Given the description of an element on the screen output the (x, y) to click on. 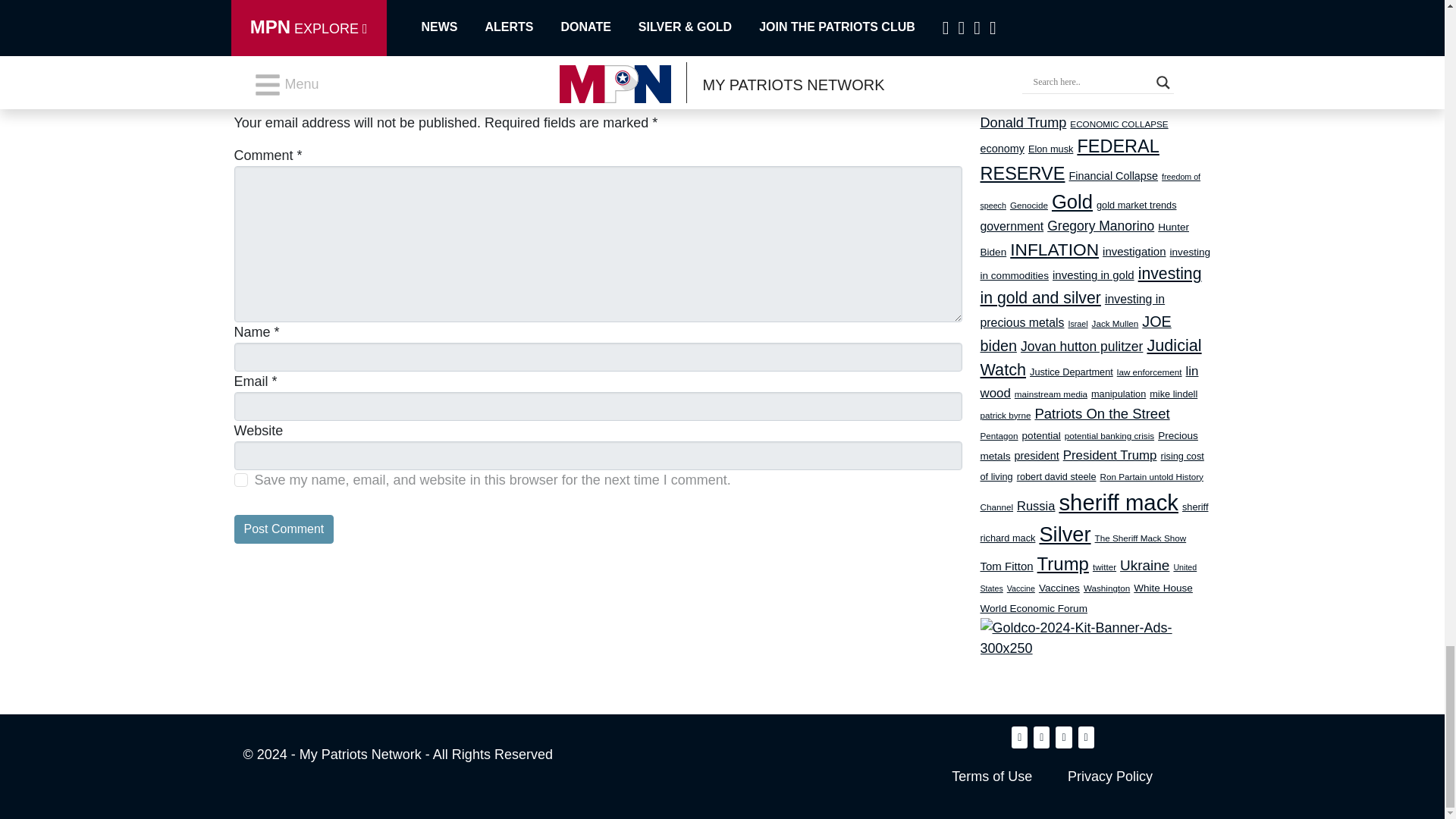
Facebook (289, 9)
Reddit (425, 9)
Post Comment (282, 529)
yes (239, 479)
Twitter (357, 9)
